Given the description of an element on the screen output the (x, y) to click on. 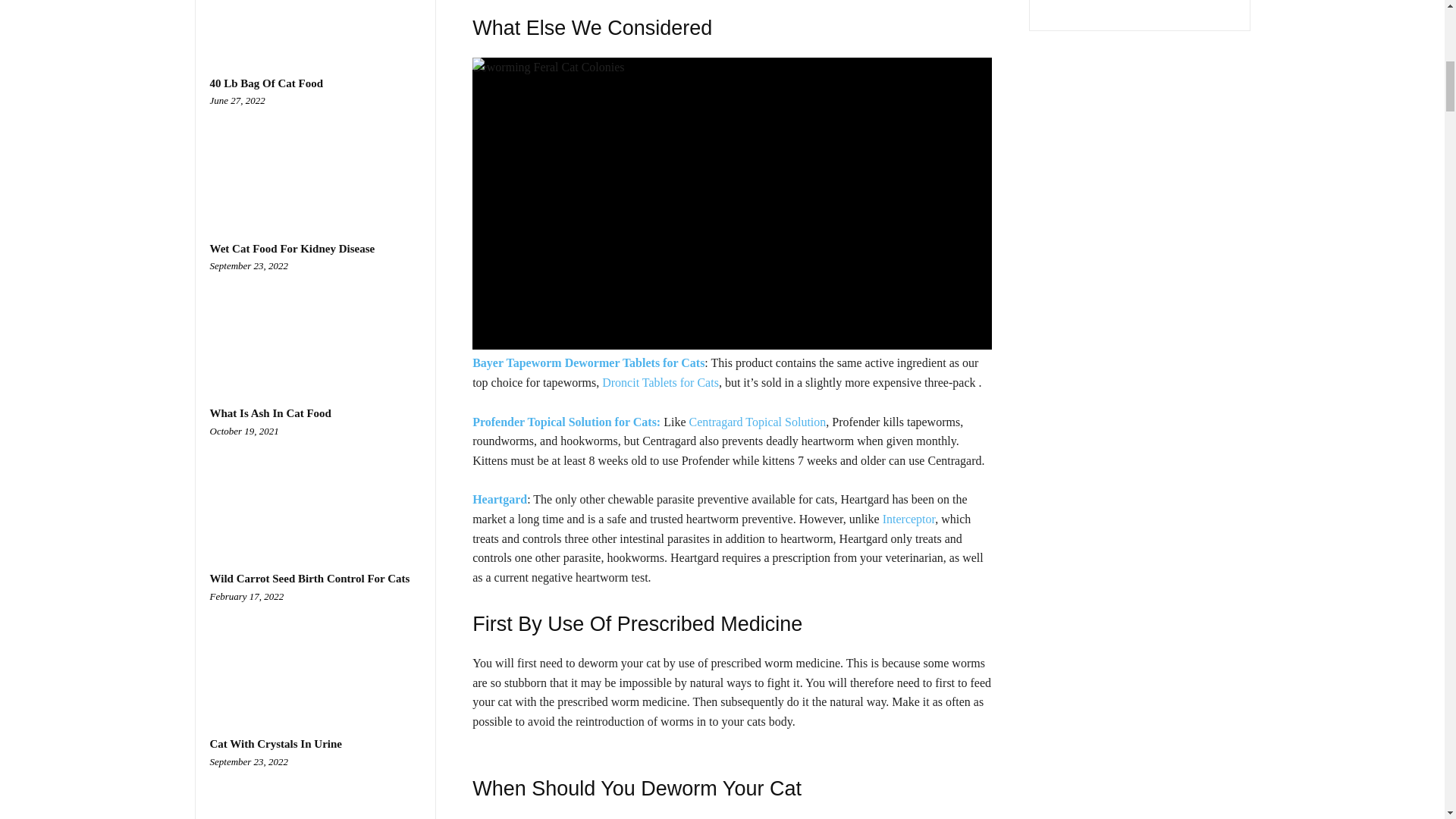
Brands Of Wet Cat Food (314, 22)
40 Lb Bag Of Cat Food (266, 82)
40 Lb Bag Of Cat Food (314, 156)
